Given the description of an element on the screen output the (x, y) to click on. 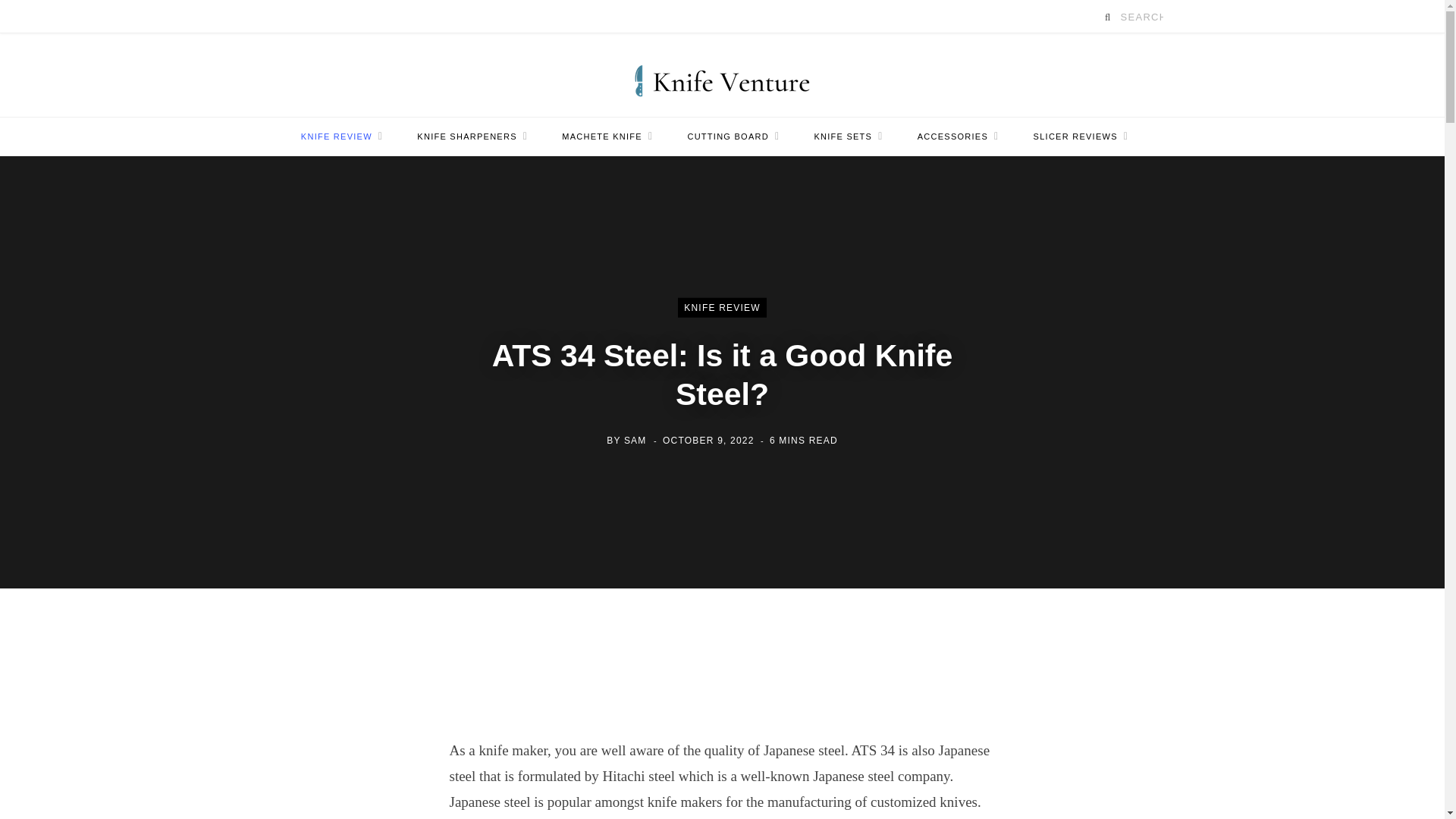
KNIFE REVIEW (341, 136)
Knife Venture (721, 74)
Posts by SAM (635, 439)
